Given the description of an element on the screen output the (x, y) to click on. 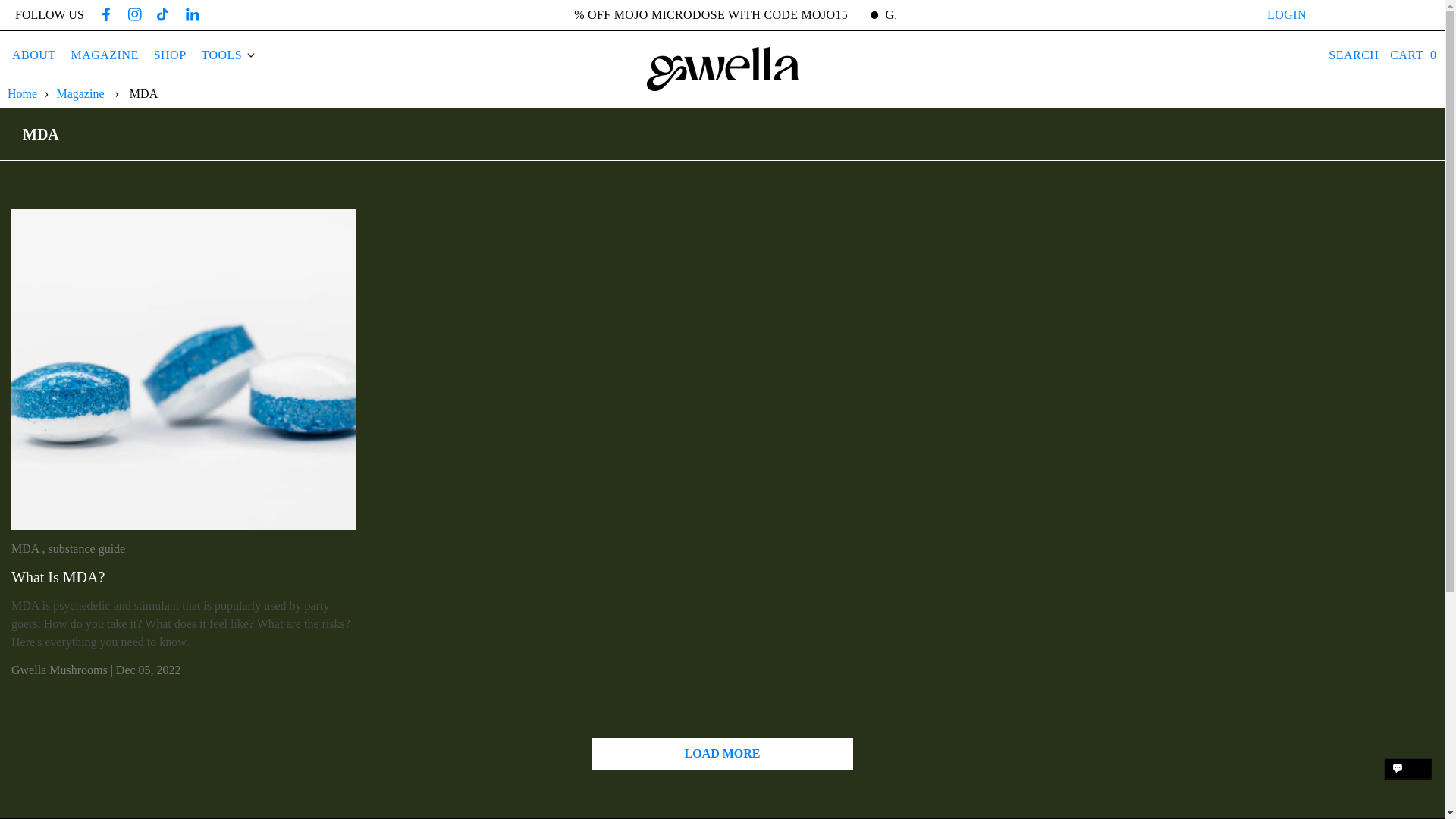
Shopify online store chat (1408, 781)
Linkedin icon (191, 14)
SHOP (170, 54)
Home (23, 93)
ABOUT (34, 54)
Linkedin icon (192, 14)
MAGAZINE (105, 54)
Subscribe (1374, 14)
LOGIN (1286, 14)
